Given the description of an element on the screen output the (x, y) to click on. 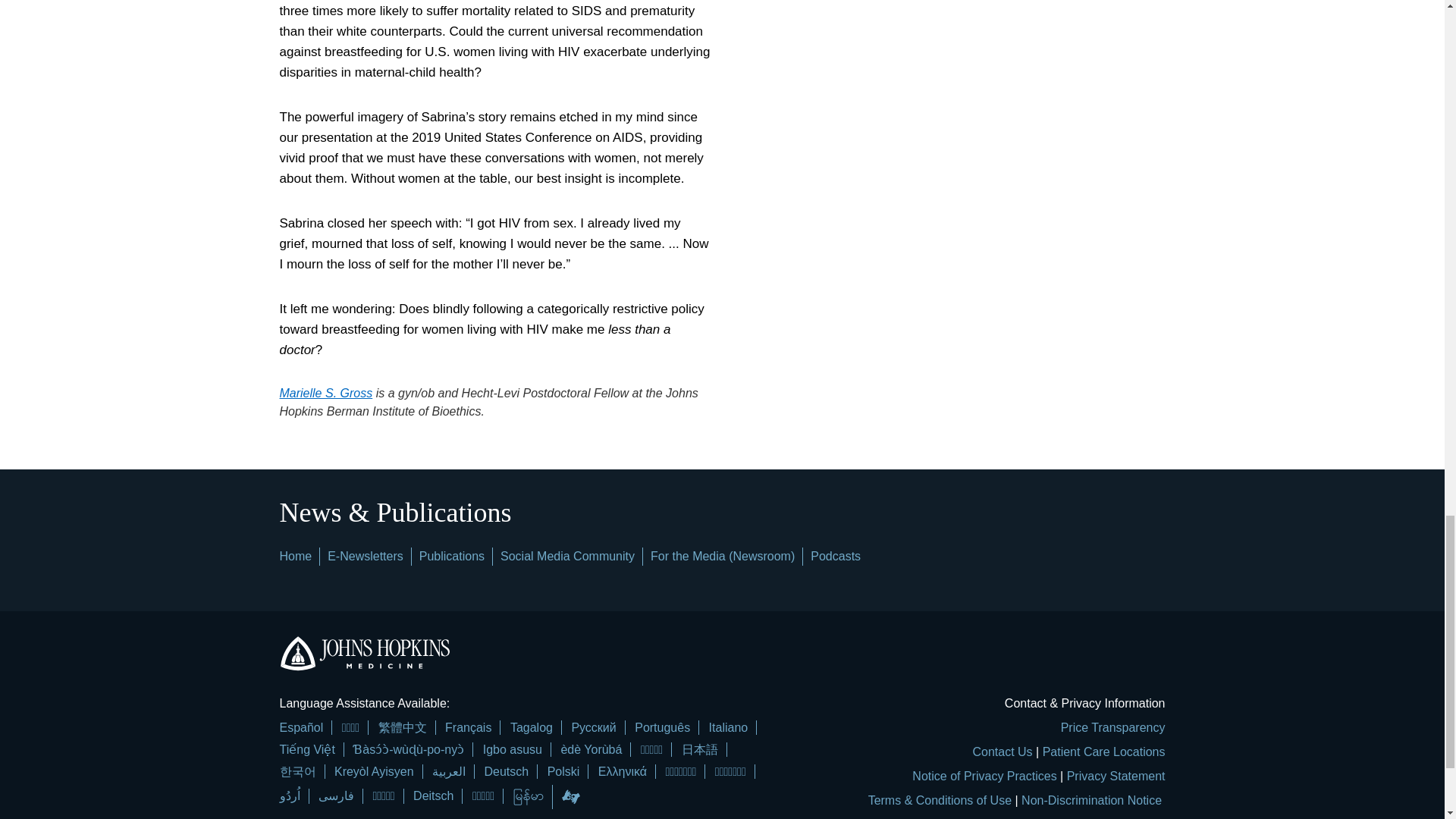
Publications (451, 555)
E-Newsletters (365, 555)
Social Media Community (567, 555)
Marielle S. Gross (325, 392)
Home (295, 555)
